Given the description of an element on the screen output the (x, y) to click on. 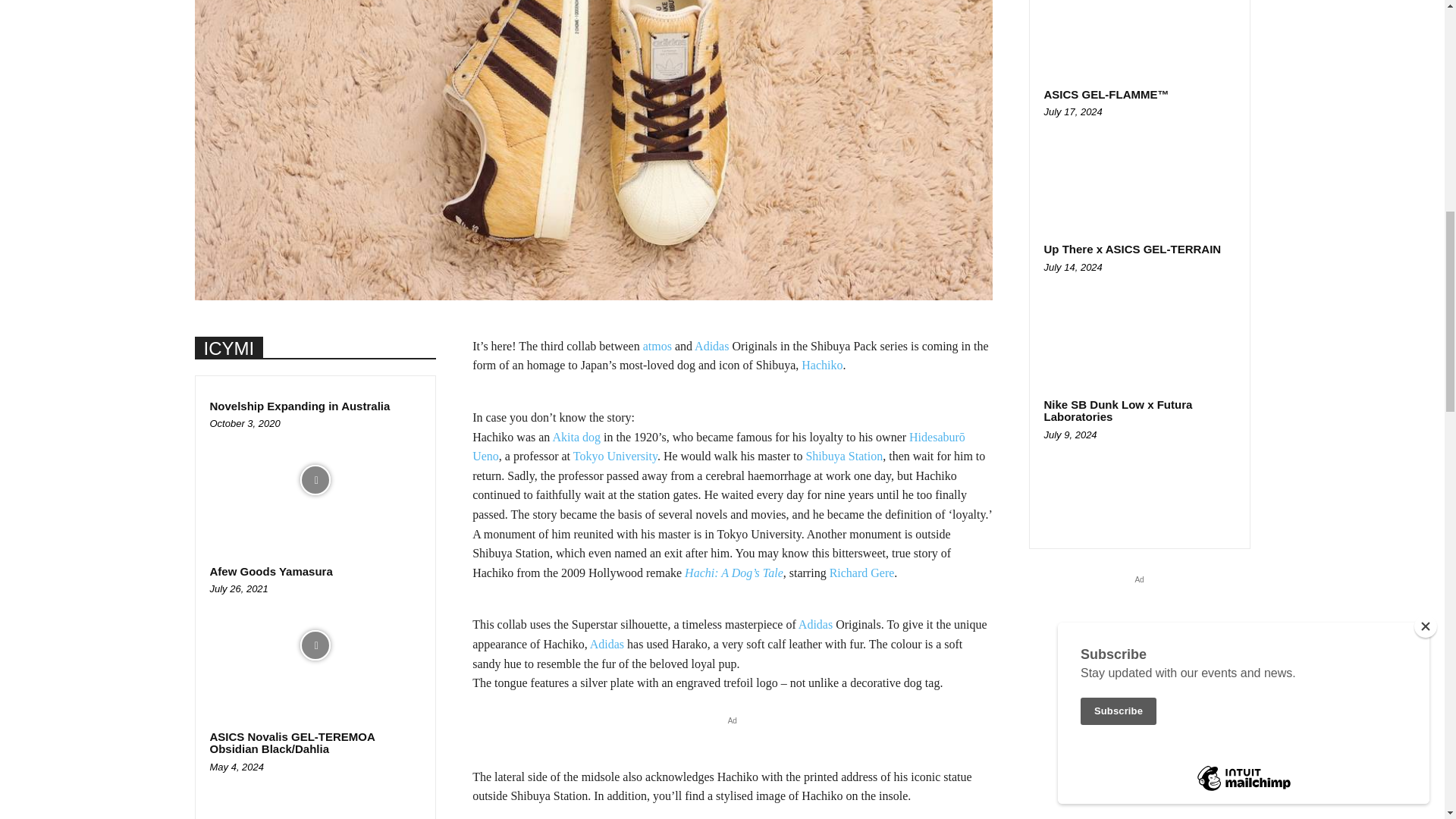
Novelship Expanding in Australia (314, 479)
Novelship Expanding in Australia (299, 405)
